Given the description of an element on the screen output the (x, y) to click on. 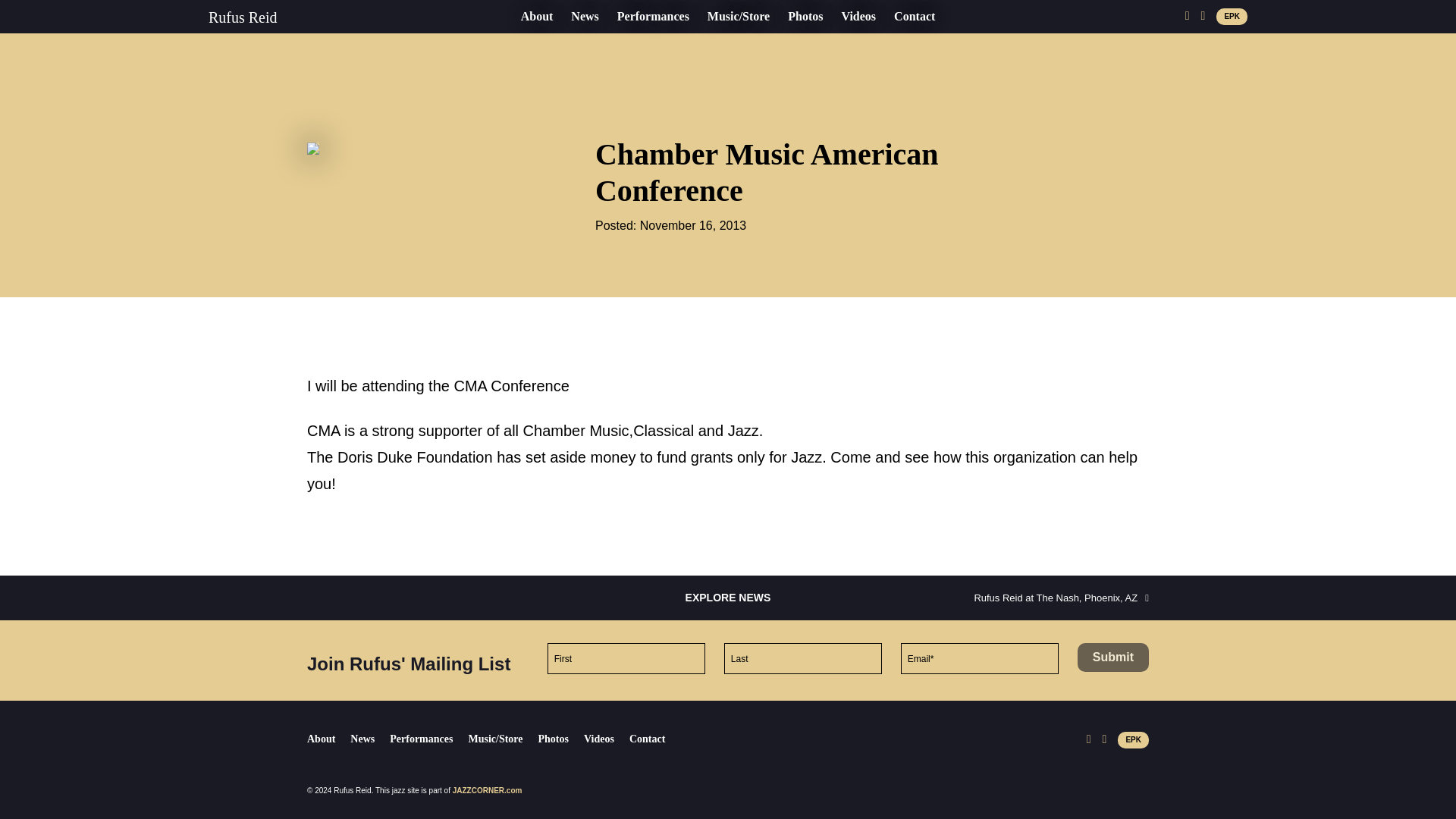
News (584, 16)
Photos (560, 738)
Submit (1112, 656)
Rufus Reid (243, 17)
Videos (605, 738)
EPK (1231, 16)
Photos (804, 16)
Submit (1112, 656)
Performances (653, 16)
Performances (428, 738)
